Given the description of an element on the screen output the (x, y) to click on. 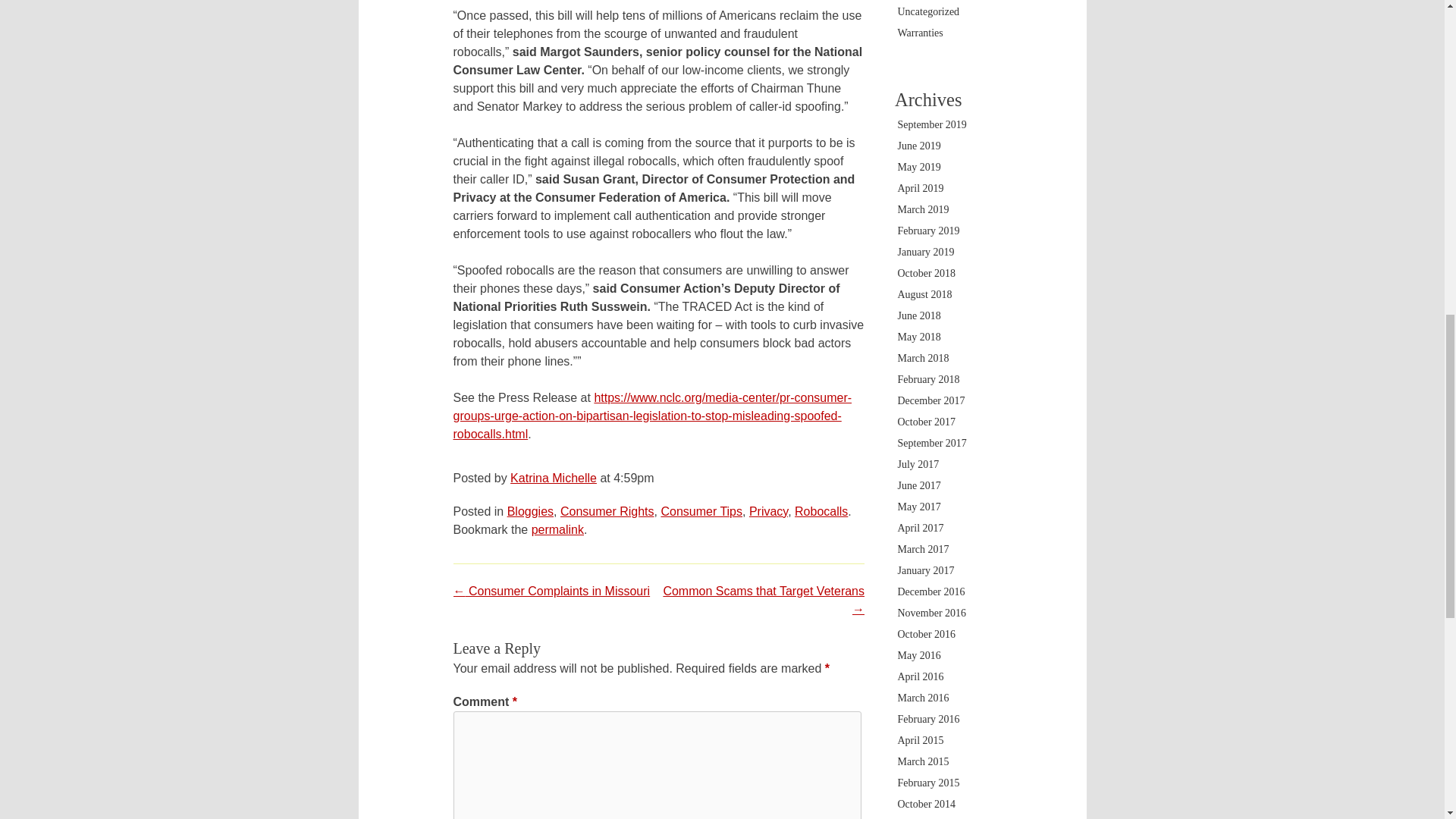
Katrina Michelle (553, 477)
Permalink to Legislation to Curtail Robocalls! (557, 529)
Bloggies (529, 511)
Consumer Tips (701, 511)
View all posts by Katrina Michelle (553, 477)
Consumer Rights (606, 511)
Privacy (768, 511)
Robocalls (820, 511)
permalink (557, 529)
